Given the description of an element on the screen output the (x, y) to click on. 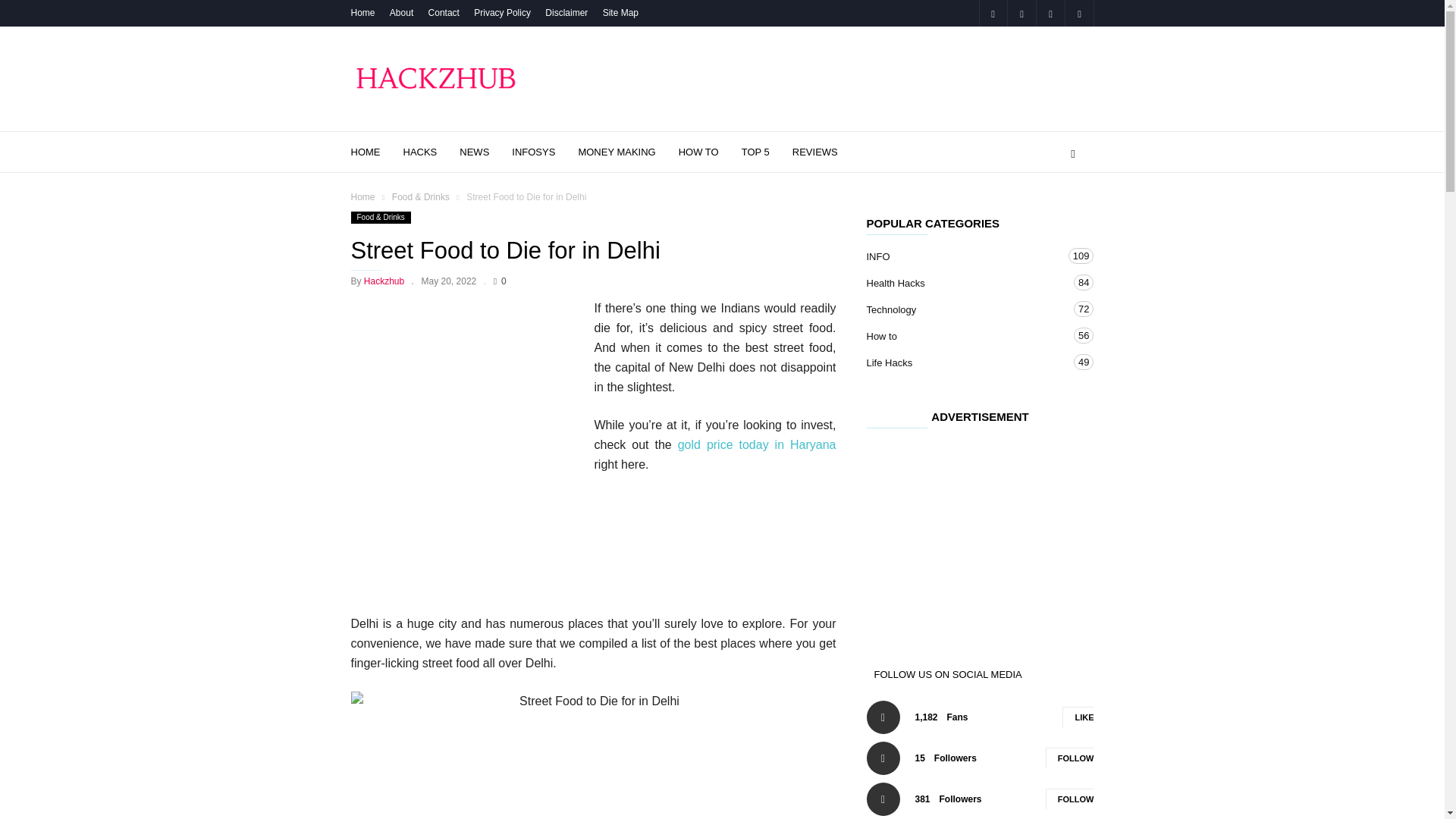
Privacy Policy (502, 12)
General Knowledge Sharing Blog (434, 78)
Street Food to Die for in Delhi (592, 755)
Site Map (620, 12)
Twitter (1078, 13)
Home (362, 12)
Facebook (992, 13)
Contact (444, 12)
About (401, 12)
HACKS (431, 151)
